Given the description of an element on the screen output the (x, y) to click on. 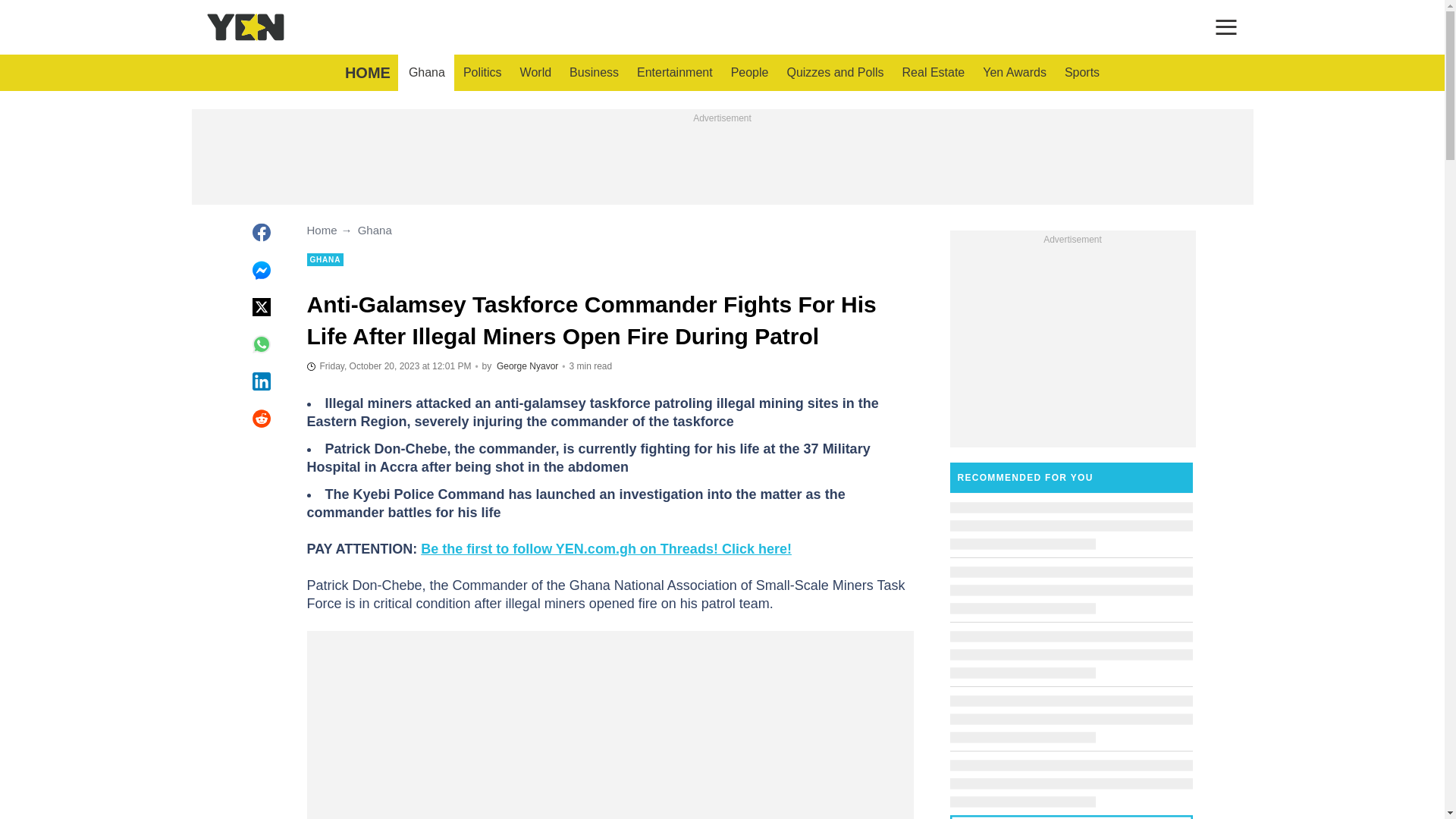
Business (593, 72)
World (535, 72)
HOME (367, 72)
Sports (1081, 72)
Politics (482, 72)
Entertainment (674, 72)
Real Estate (933, 72)
2023-10-20T12:01:53Z (387, 366)
Ghana (426, 72)
People (749, 72)
Author page (526, 366)
Yen Awards (1014, 72)
Quizzes and Polls (834, 72)
